Given the description of an element on the screen output the (x, y) to click on. 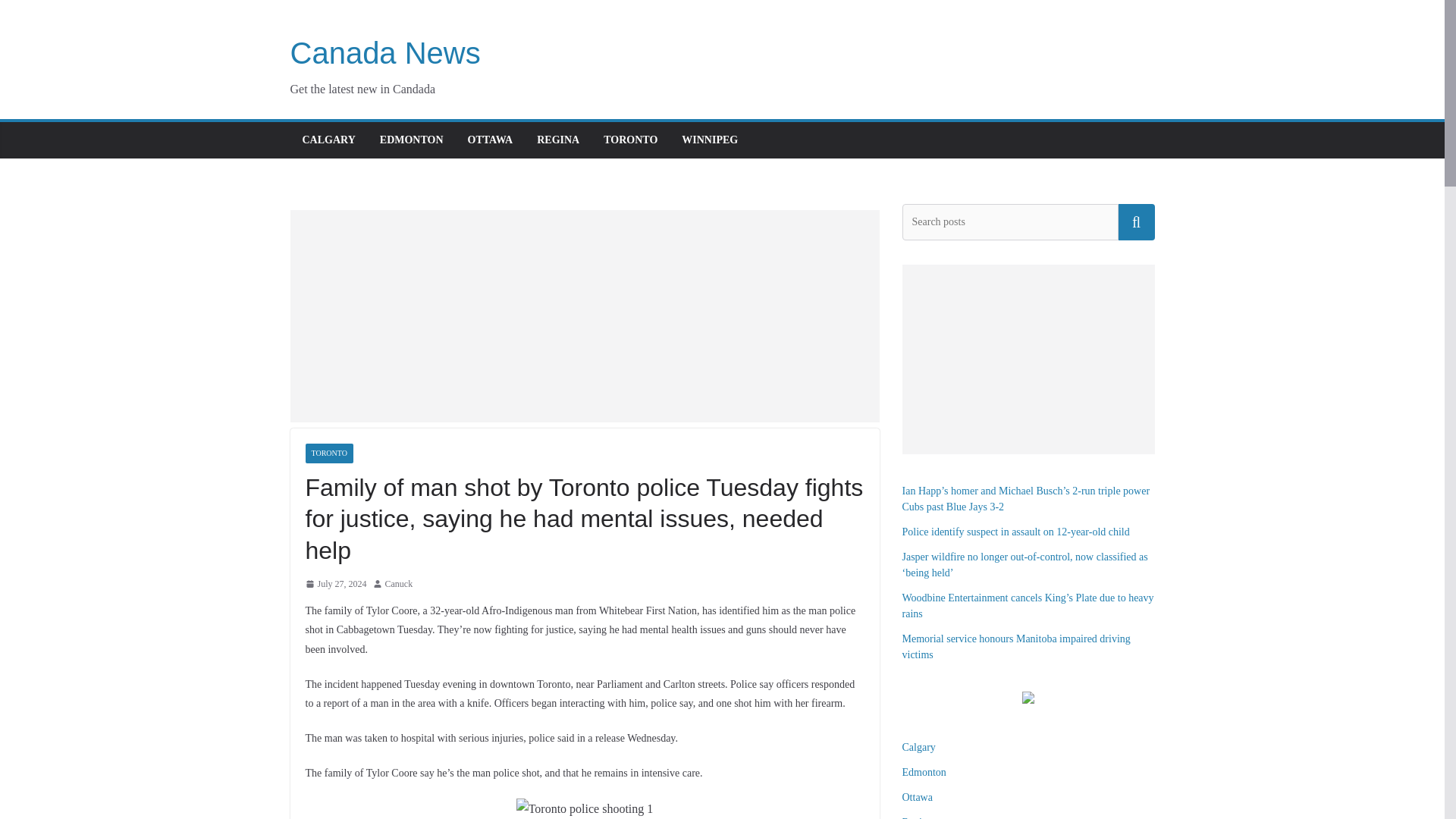
WINNIPEG (709, 139)
Canada News (384, 52)
Advertisement (584, 315)
July 27, 2024 (335, 584)
Canada News (384, 52)
REGINA (558, 139)
TORONTO (631, 139)
Canuck (399, 584)
CALGARY (328, 139)
4:18 pm (335, 584)
